Given the description of an element on the screen output the (x, y) to click on. 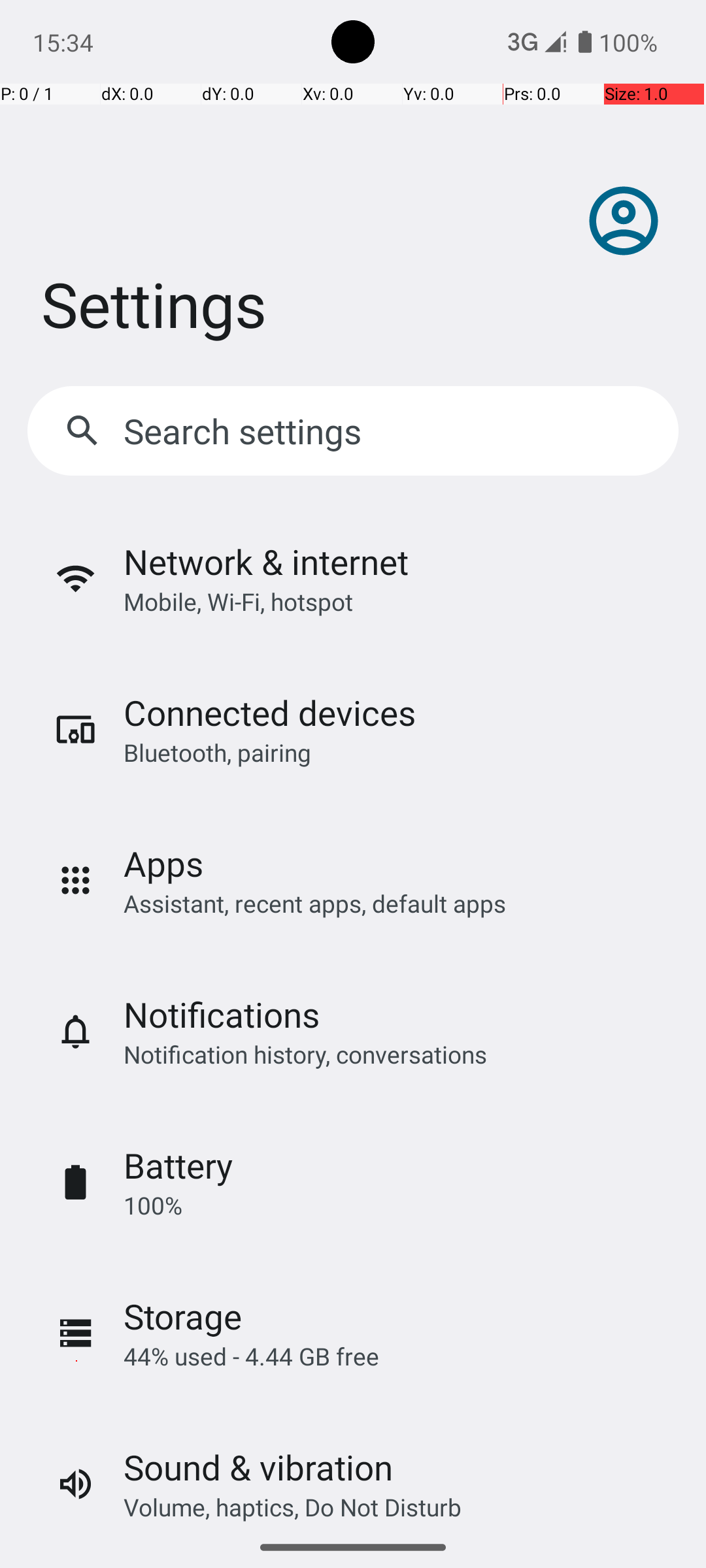
44% used - 4.44 GB free Element type: android.widget.TextView (251, 1355)
